Given the description of an element on the screen output the (x, y) to click on. 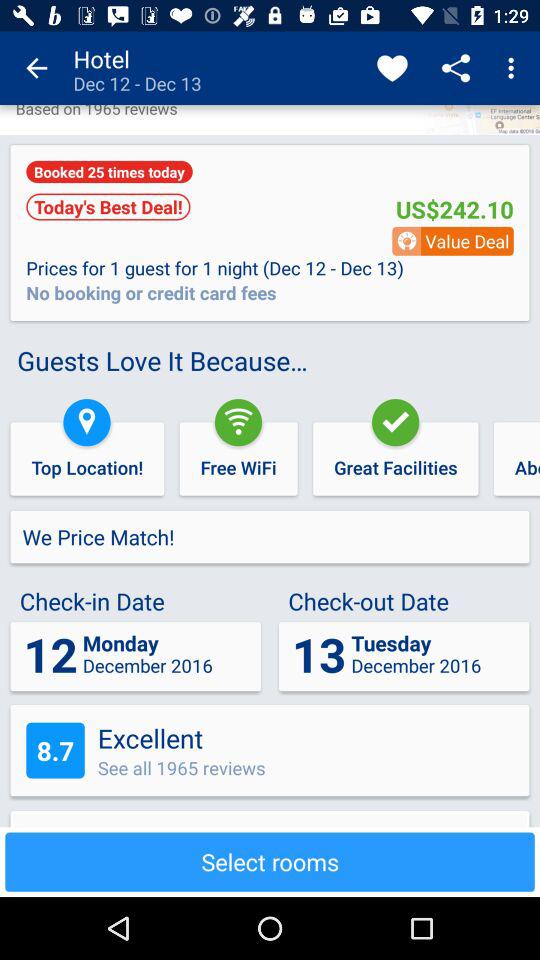
press icon to the left of the hotel dec 12 app (36, 68)
